Given the description of an element on the screen output the (x, y) to click on. 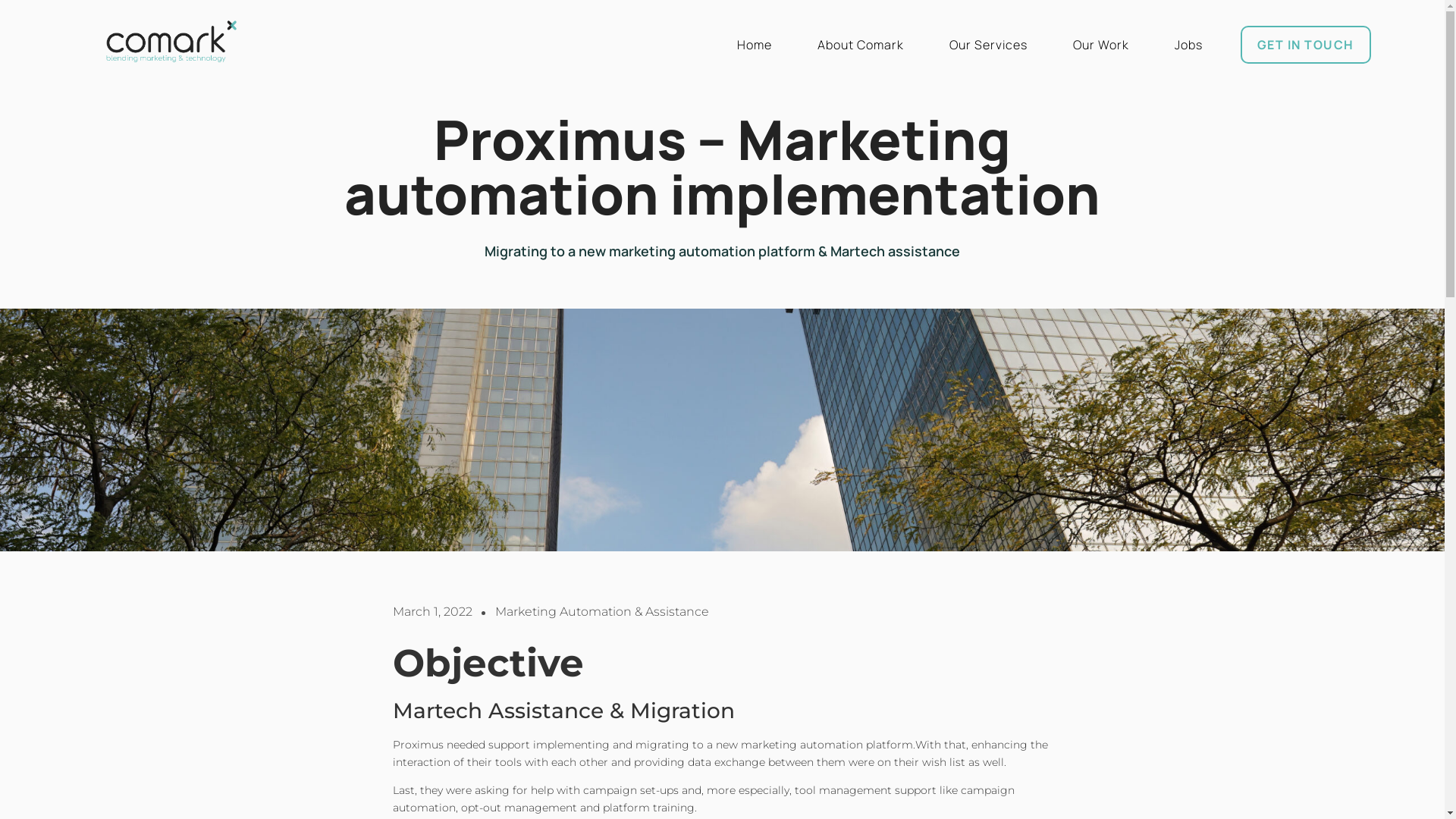
Jobs Element type: text (1188, 44)
Our Services Element type: text (988, 44)
March 1, 2022 Element type: text (432, 611)
About Comark Element type: text (860, 44)
Our Work Element type: text (1100, 44)
GET IN TOUCH Element type: text (1305, 44)
Home Element type: text (754, 44)
